Given the description of an element on the screen output the (x, y) to click on. 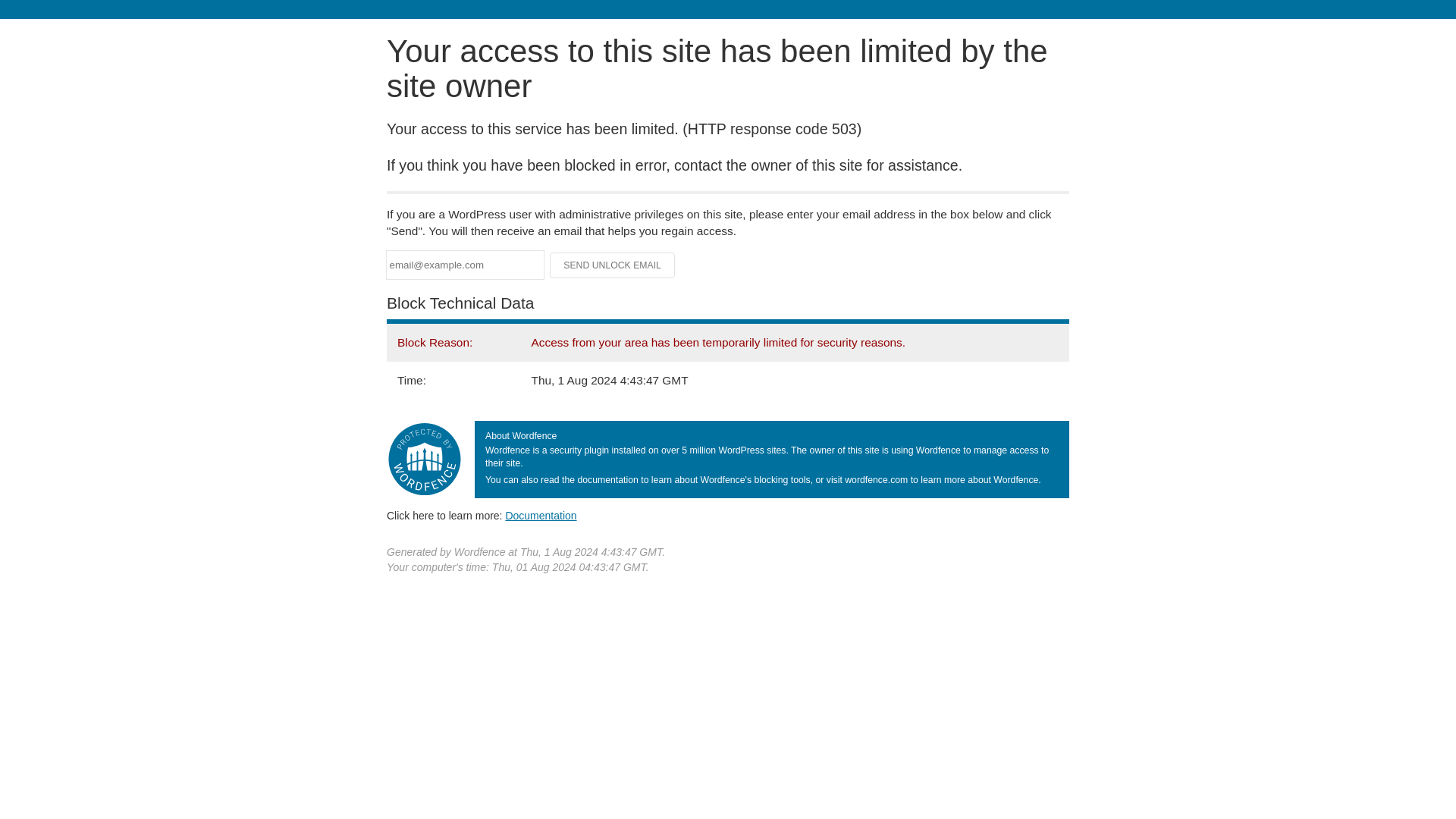
Documentation (540, 515)
Send Unlock Email (612, 265)
Send Unlock Email (612, 265)
